Given the description of an element on the screen output the (x, y) to click on. 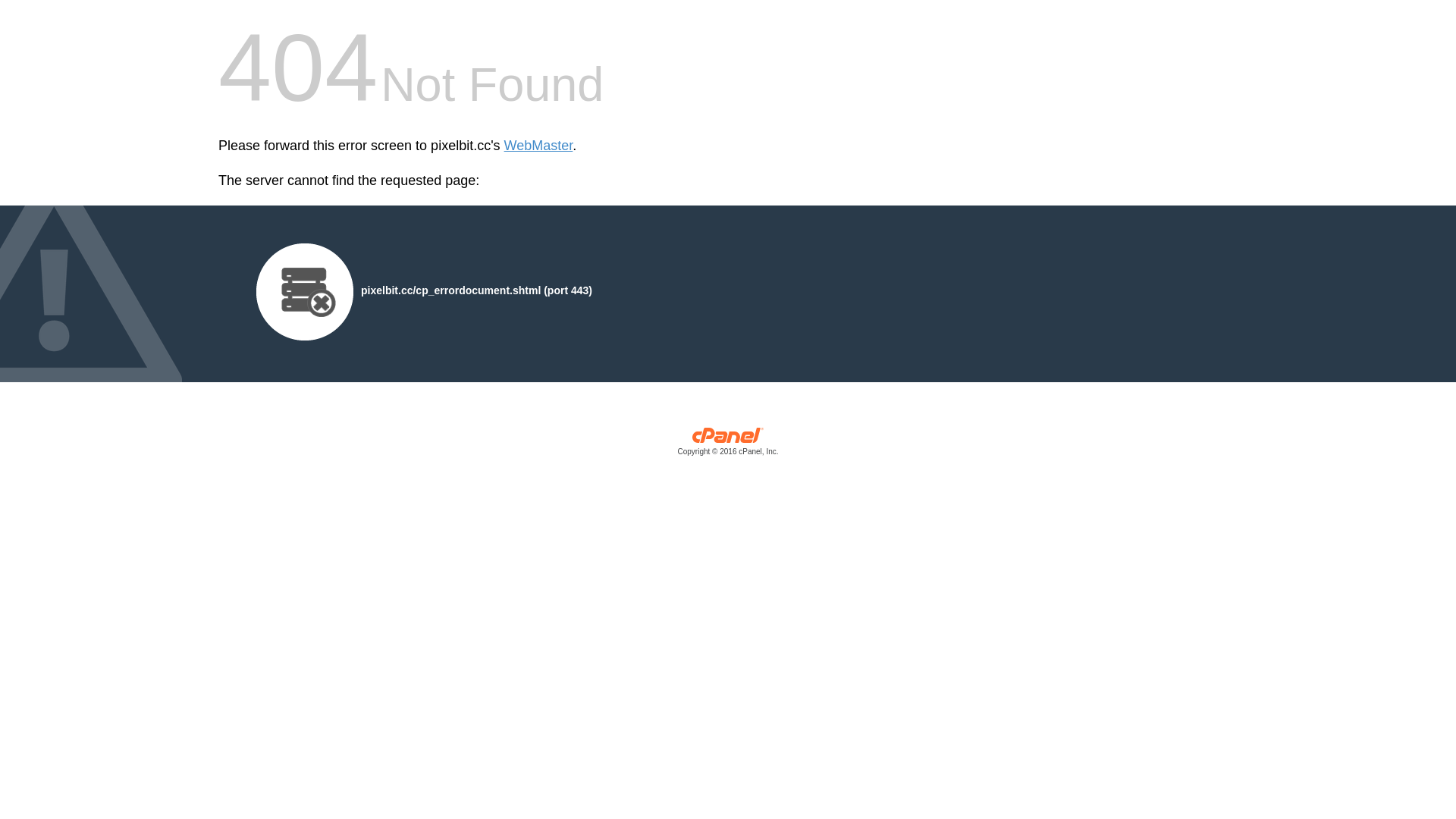
WebMaster Element type: text (538, 145)
